Given the description of an element on the screen output the (x, y) to click on. 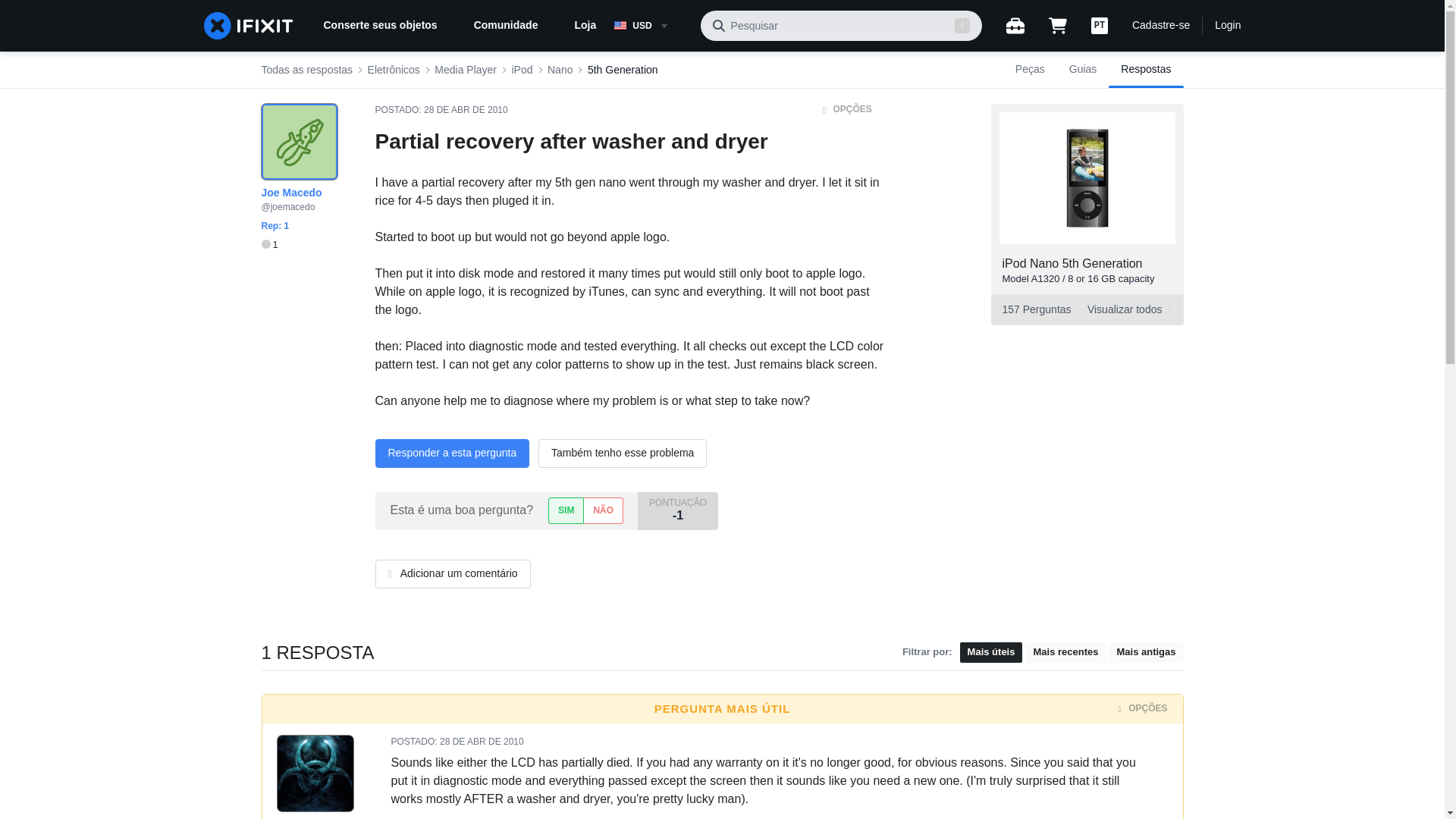
Responder a esta pergunta (451, 452)
Wed, 28 Apr 2010 19:33:00 -0700 (481, 741)
iPod (521, 69)
Nano (559, 69)
USD (650, 25)
1 emblemas de Prata (269, 245)
Cadastre-se (1160, 25)
1 (269, 245)
Respostas (1086, 309)
Guias (1145, 69)
Login (1083, 69)
5th Generation (1227, 25)
PT (623, 69)
POSTADO: 28 DE ABR DE 2010 (1099, 25)
